Given the description of an element on the screen output the (x, y) to click on. 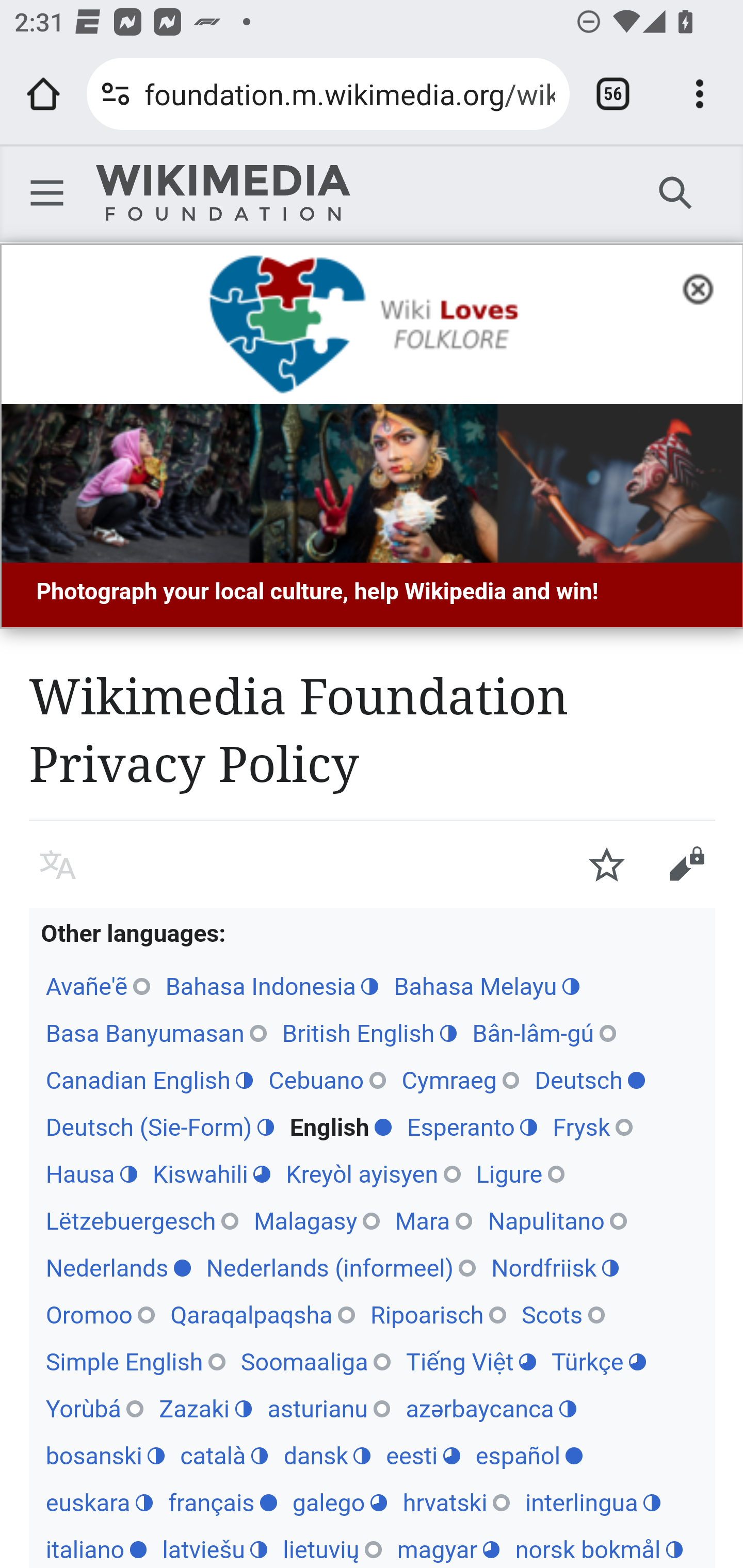
Open the home page (43, 93)
Connection is secure (115, 93)
Switch or close tabs (612, 93)
Customize and control Google Chrome (699, 93)
Search (676, 192)
Wikimedia Foundation Governance Wiki (222, 192)
Hide (703, 286)
Language (57, 864)
Watch (606, 864)
View source (686, 864)
Avañe'ẽ (97, 985)
Bahasa Indonesia (271, 985)
Bahasa Melayu (486, 985)
Basa Banyumasan (155, 1032)
British English (369, 1032)
Bân-lâm-gú (544, 1032)
Canadian English (149, 1080)
Cebuano (327, 1080)
Cymraeg (460, 1080)
Deutsch (590, 1080)
Deutsch (Sie-Form) (159, 1127)
Esperanto (471, 1127)
Frysk (592, 1127)
Hausa (90, 1174)
Kiswahili (211, 1174)
Kreyòl ayisyen (373, 1174)
Ligure (519, 1174)
Lëtzebuergesch (141, 1220)
Malagasy (316, 1220)
Mara (433, 1220)
Napulitano (557, 1220)
Nederlands (117, 1267)
Nederlands (informeel) (341, 1267)
Nordfriisk (554, 1267)
Oromoo (100, 1314)
Qaraqalpaqsha (262, 1314)
Ripoarisch (437, 1314)
Scots (563, 1314)
Simple English (134, 1361)
Soomaaliga (315, 1361)
Tiếng Việt (470, 1361)
Türkçe (598, 1361)
Yorùbá (94, 1408)
Zazaki (205, 1408)
asturianu (329, 1408)
azərbaycanca (491, 1408)
bosanski (105, 1455)
català (223, 1455)
dansk (326, 1455)
eesti (421, 1455)
español (528, 1455)
euskara (98, 1502)
français (221, 1502)
galego (338, 1502)
hrvatski (456, 1502)
interlingua (592, 1502)
italiano (95, 1549)
latviešu (214, 1549)
lietuvių (331, 1549)
magyar (447, 1549)
norsk bokmål (599, 1549)
